Given the description of an element on the screen output the (x, y) to click on. 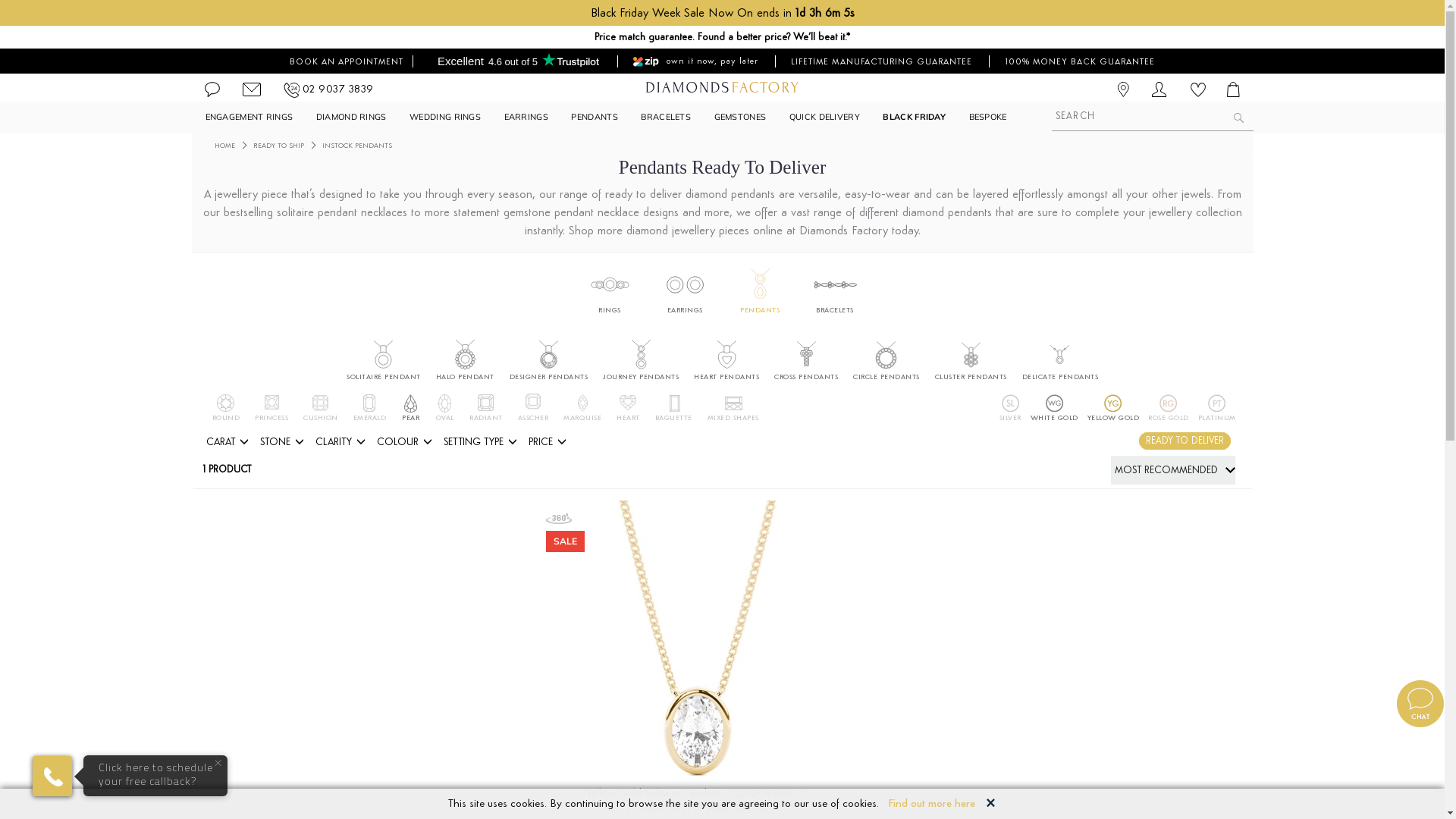
MARQUISE Element type: text (582, 417)
  Element type: text (1128, 89)
BOOK AN APPOINTMENT Element type: text (346, 61)
EARRINGS Element type: text (526, 116)
Contact us Element type: hover (251, 93)
CROSS PENDANTS Element type: text (805, 376)
Chat Element type: hover (211, 93)
READY TO DELIVER Element type: text (1184, 440)
RADIANT Element type: text (485, 417)
CUSHION Element type: text (320, 417)
PENDANTS Element type: text (593, 116)
SOLITAIRE PENDANT Element type: text (383, 376)
EARRINGS Element type: text (684, 309)
WHITE GOLD Element type: text (1053, 417)
PRINCESS Element type: text (271, 417)
PLATINUM Element type: text (1217, 417)
JOURNEY PENDANTS Element type: text (640, 376)
YELLOW GOLD Element type: text (1113, 417)
RINGS Element type: text (609, 309)
own it now, pay later Element type: text (695, 61)
ASSCHER Element type: text (532, 417)
MIXED SHAPES Element type: text (732, 417)
Account Element type: hover (1159, 92)
HALO PENDANT Element type: text (464, 376)
INSTOCK PENDANTS Element type: text (356, 145)
BESPOKE Element type: text (987, 116)
BAGUETTE Element type: text (673, 417)
Find out more here Element type: text (931, 803)
Customer reviews powered by Trustpilot Element type: hover (518, 60)
0 Element type: hover (1197, 92)
Black Friday Week Sale Now On ends in 1d 3h 6m 26s Element type: text (722, 12)
ROSE GOLD Element type: text (1168, 417)
READY TO SHIP Element type: text (278, 145)
Book an appointment Element type: hover (1128, 89)
02 9037 3839 Element type: text (337, 89)
CLUSTER PENDANTS Element type: text (970, 376)
SILVER Element type: text (1010, 417)
WEDDING RINGS Element type: text (445, 116)
GEMSTONES Element type: text (740, 116)
DIAMOND RINGS Element type: text (351, 116)
PEAR Element type: text (410, 417)
HOME Element type: text (223, 145)
DELICATE PENDANTS Element type: text (1060, 376)
DESIGNER PENDANTS Element type: text (548, 376)
QUICK DELIVERY Element type: text (824, 116)
ENGAGEMENT RINGS Element type: text (249, 116)
My Bag Element type: hover (1228, 90)
EMERALD Element type: text (369, 417)
HEART PENDANTS Element type: text (726, 376)
100% MONEY BACK GUARANTEE Element type: text (1079, 61)
CIRCLE PENDANTS Element type: text (886, 376)
ROUND Element type: text (226, 417)
BRACELETS Element type: text (834, 309)
Diamonds Factory Australia Element type: hover (722, 86)
HEART Element type: text (628, 417)
OVAL Element type: text (444, 417)
LIFETIME MANUFACTURING GUARANTEE Element type: text (881, 61)
BRACELETS Element type: text (665, 116)
BLACK FRIDAY Element type: text (913, 116)
PENDANTS Element type: text (759, 309)
